Given the description of an element on the screen output the (x, y) to click on. 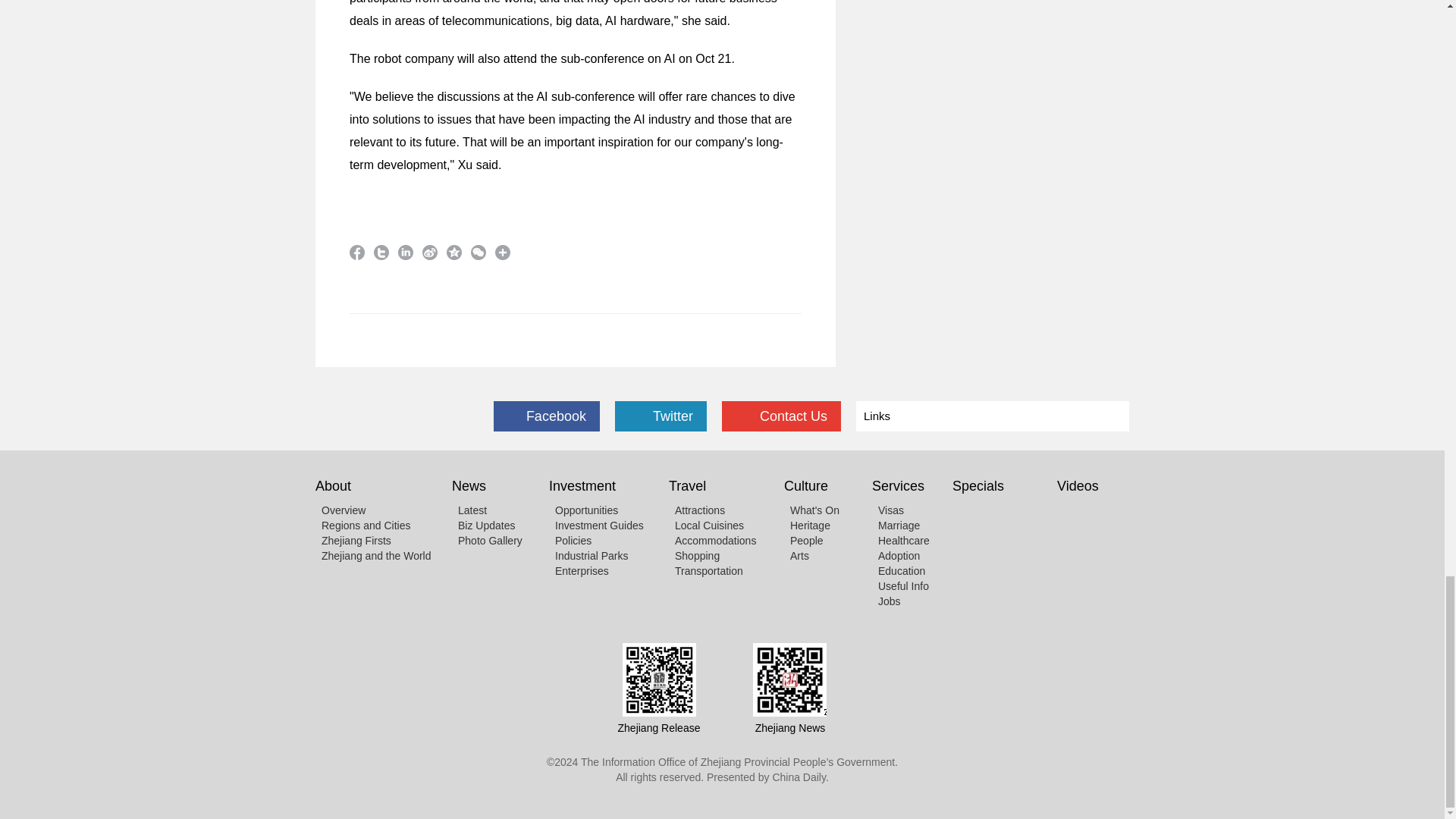
linkedin (405, 252)
facebook (357, 252)
qzone (453, 252)
sinaminiblog (430, 252)
More (503, 252)
twitter (381, 252)
weixin (478, 252)
